Given the description of an element on the screen output the (x, y) to click on. 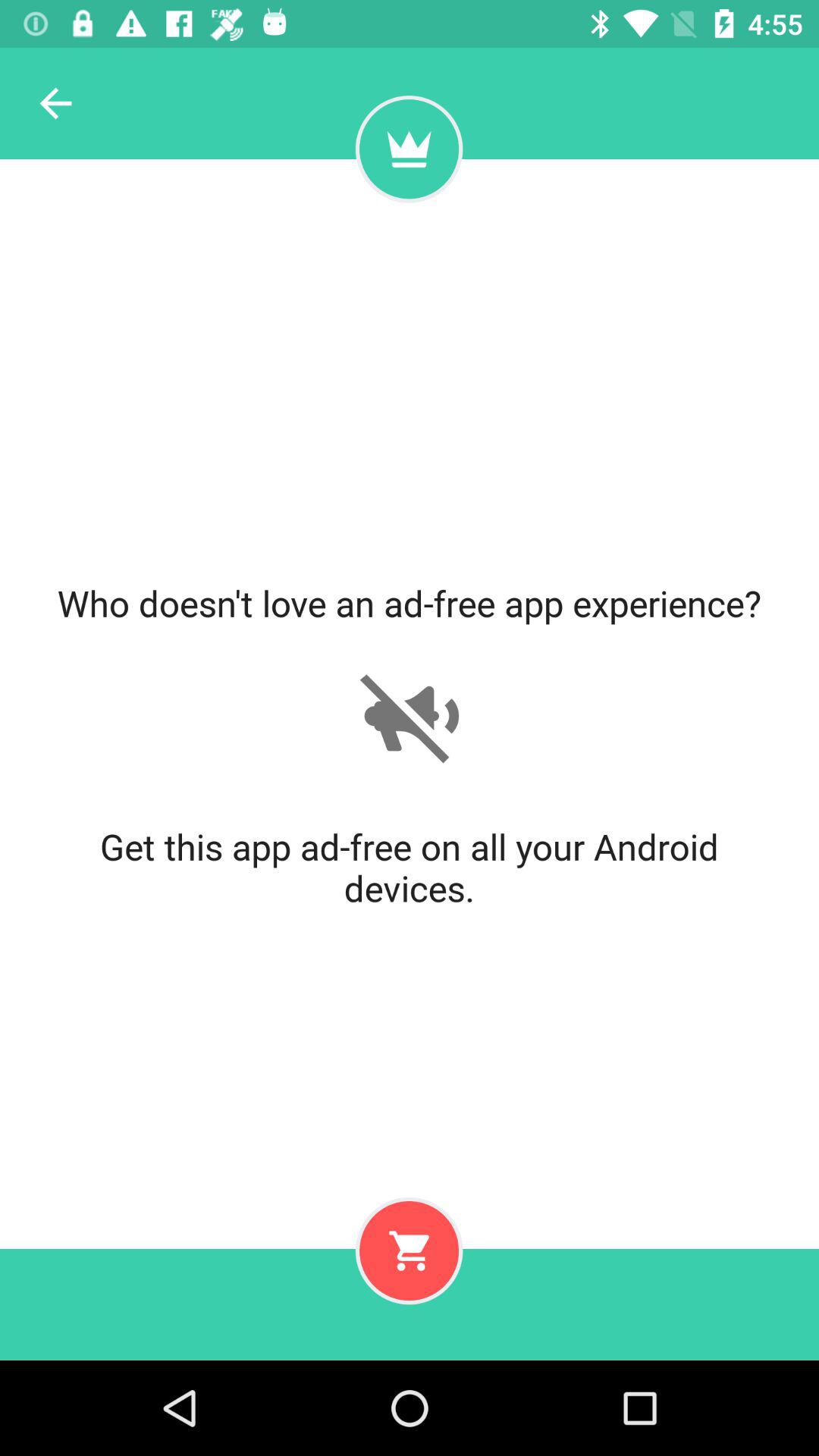
open shopping cart (408, 1250)
